Given the description of an element on the screen output the (x, y) to click on. 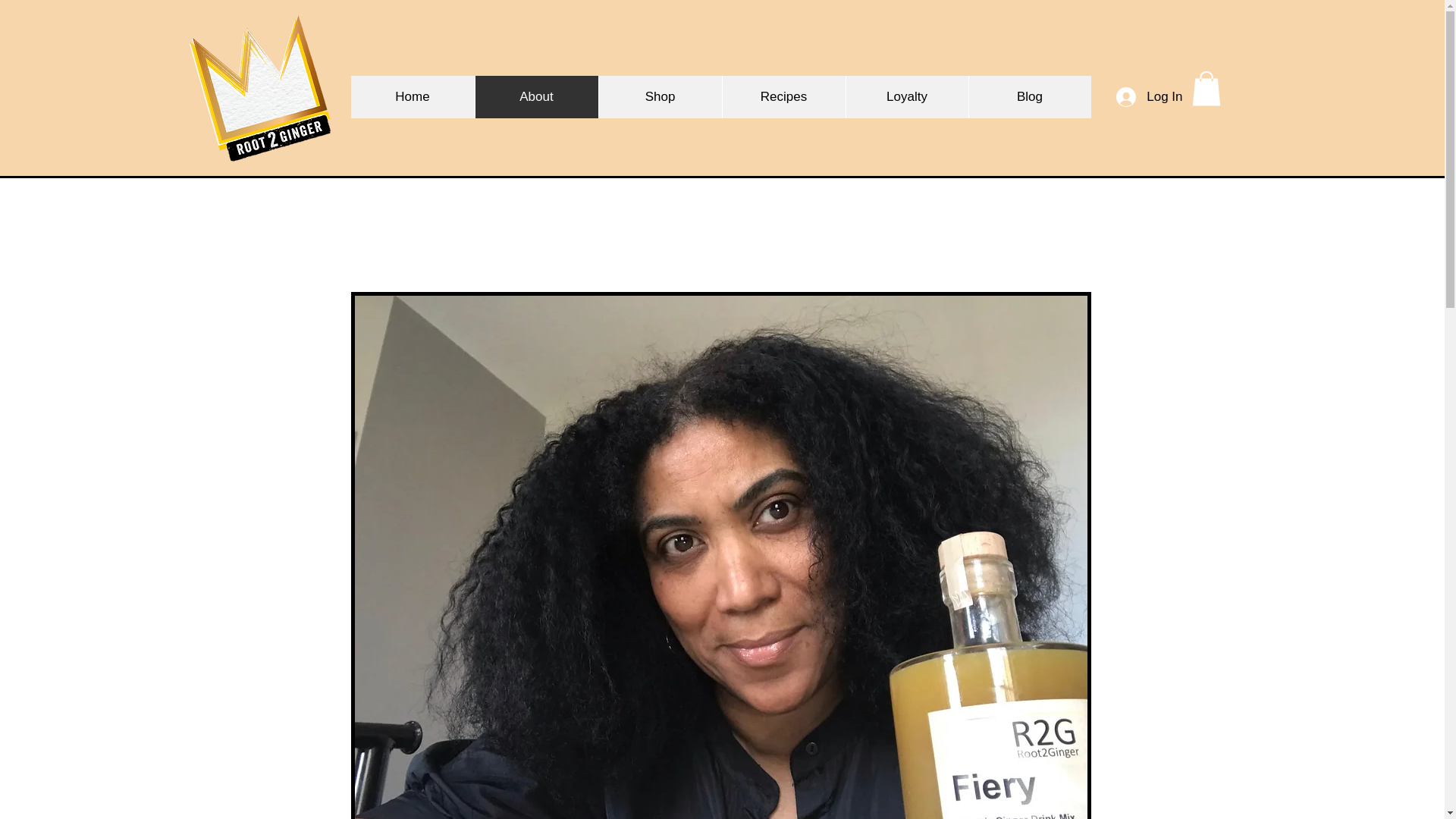
Loyalty (906, 96)
About (536, 96)
Log In (1148, 95)
Shop (658, 96)
Recipes (783, 96)
Home (412, 96)
Blog (1029, 96)
